Given the description of an element on the screen output the (x, y) to click on. 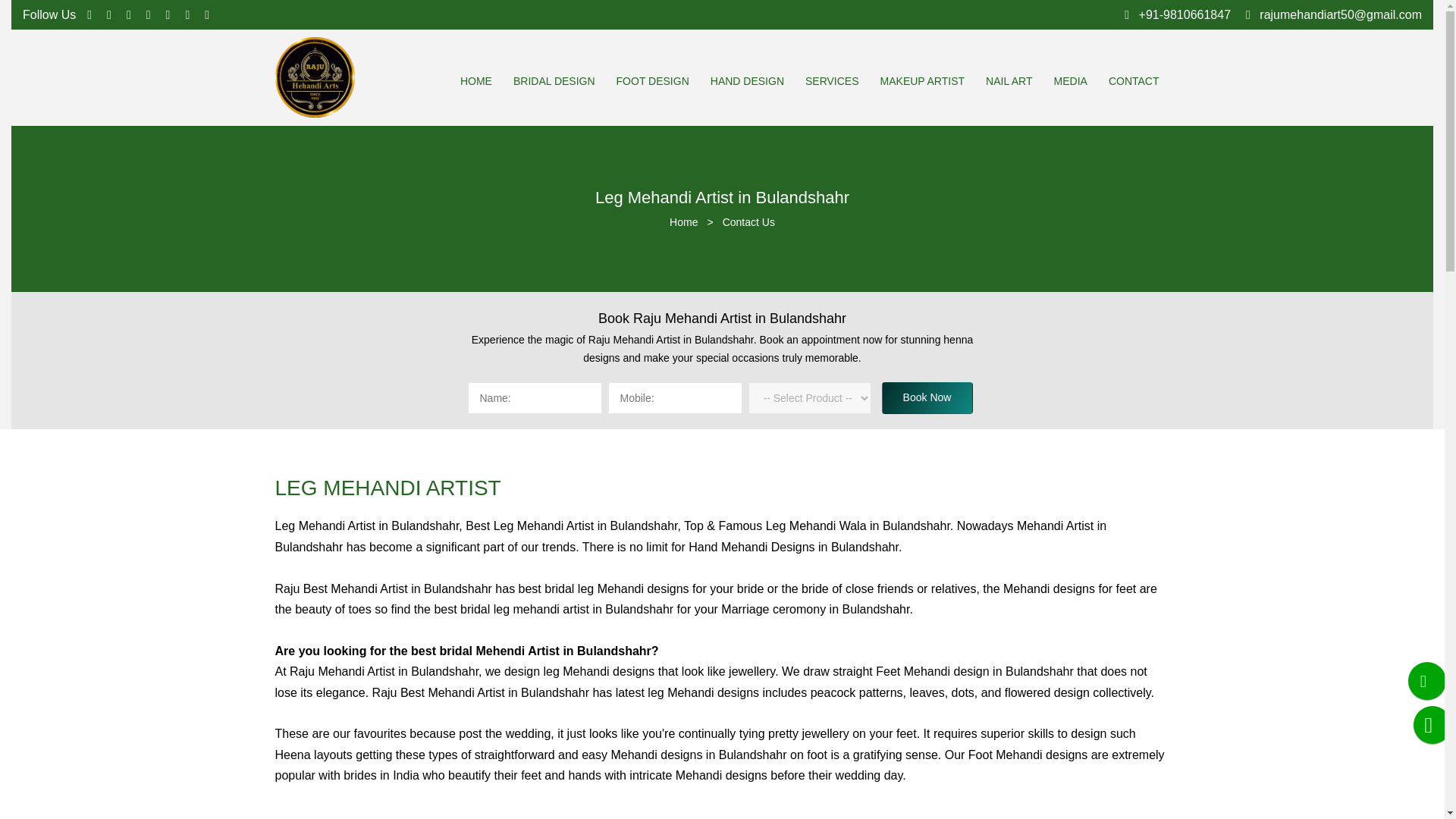
Book Now (926, 398)
Contact Us (748, 222)
BRIDAL DESIGN (554, 80)
MEDIA (1070, 80)
SERVICES (832, 80)
NAIL ART (1008, 80)
HOME (476, 80)
HAND DESIGN (747, 80)
Raju Mehandi Art (314, 76)
FOOT DESIGN (651, 80)
